Given the description of an element on the screen output the (x, y) to click on. 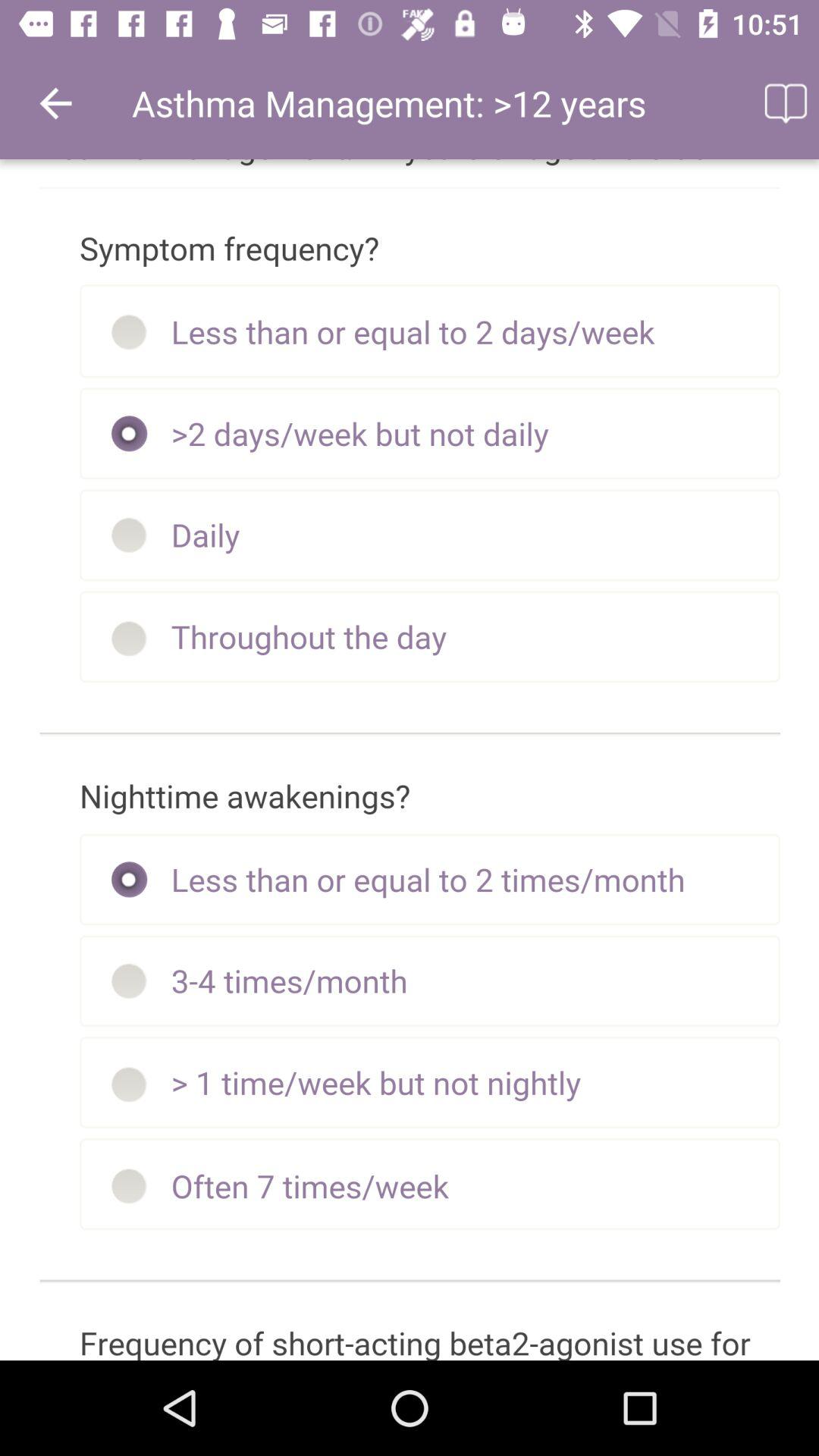
book (784, 103)
